Given the description of an element on the screen output the (x, y) to click on. 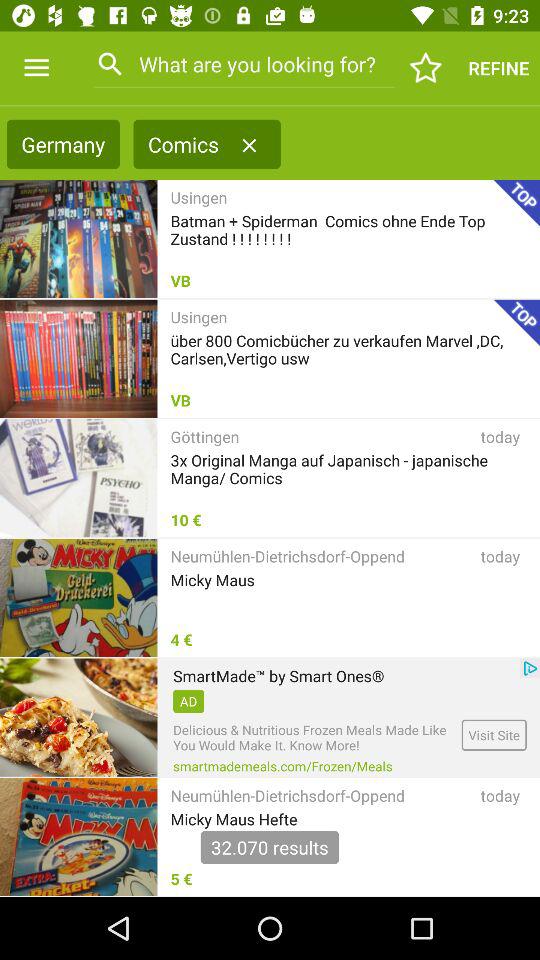
press icon to the left of visit site (282, 766)
